Given the description of an element on the screen output the (x, y) to click on. 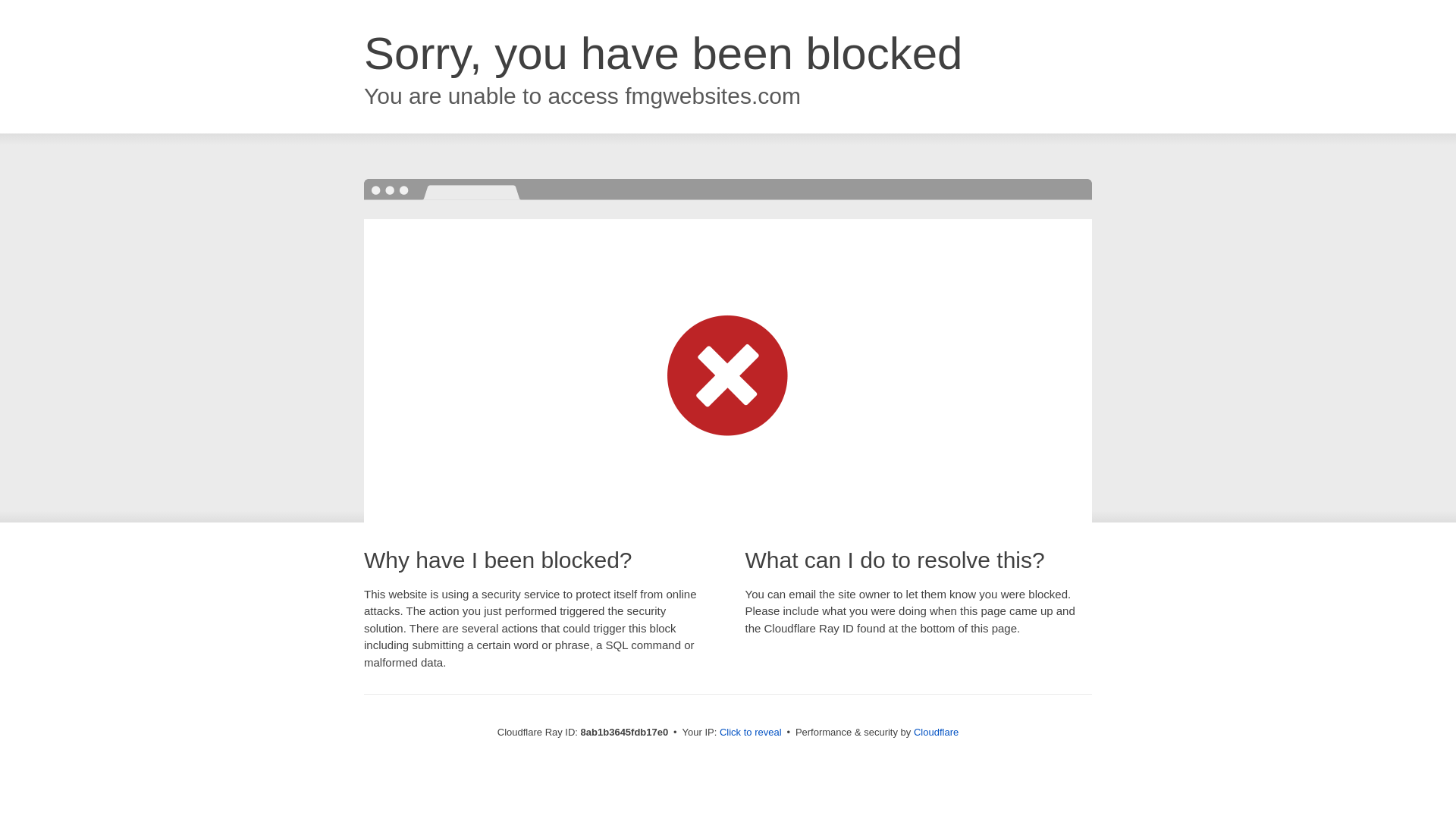
Cloudflare (936, 731)
Click to reveal (750, 732)
